Given the description of an element on the screen output the (x, y) to click on. 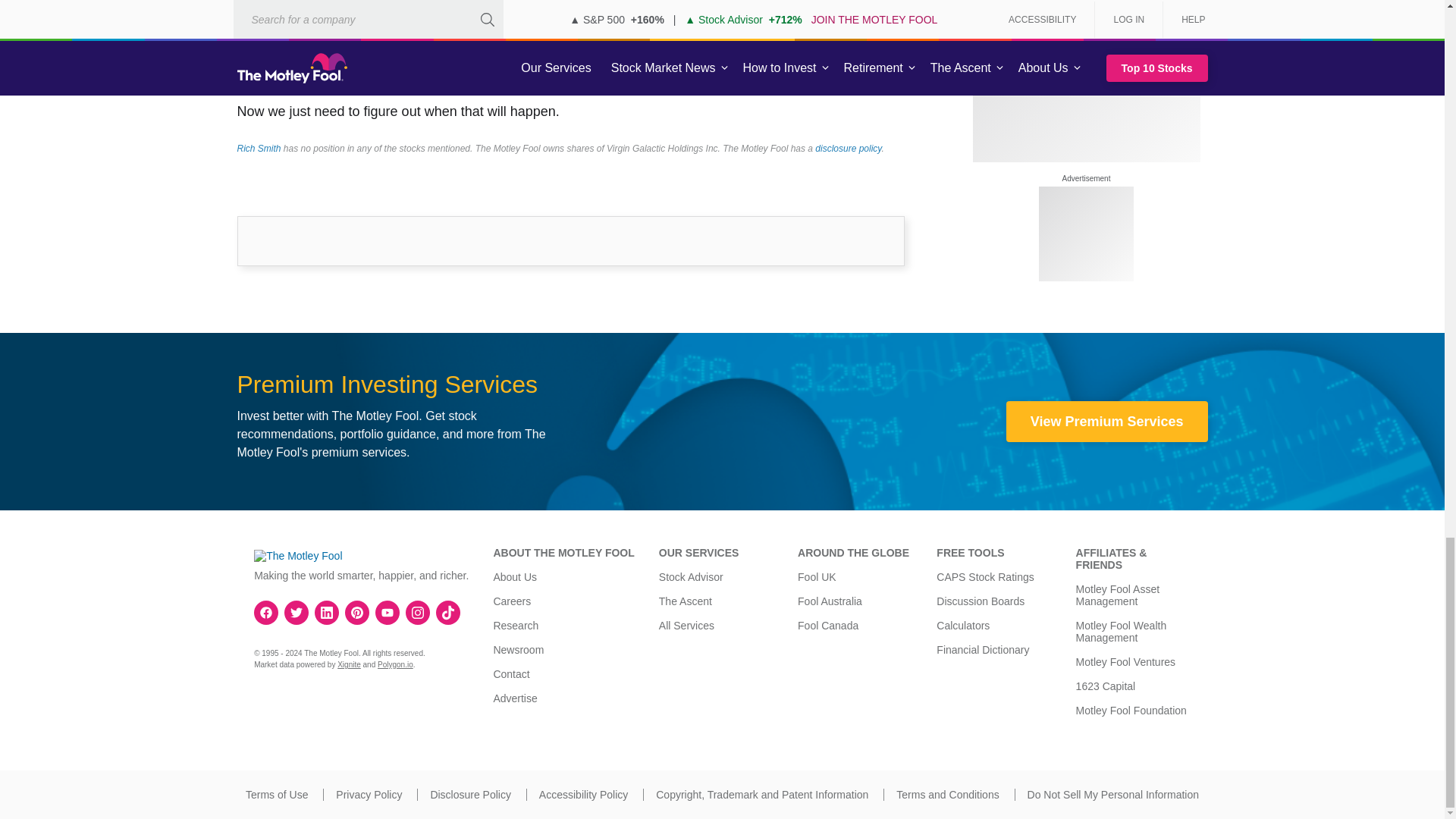
Terms and Conditions (947, 794)
Privacy Policy (368, 794)
Disclosure Policy (470, 794)
Do Not Sell My Personal Information. (1112, 794)
Accessibility Policy (582, 794)
Copyright, Trademark and Patent Information (761, 794)
Terms of Use (276, 794)
